Given the description of an element on the screen output the (x, y) to click on. 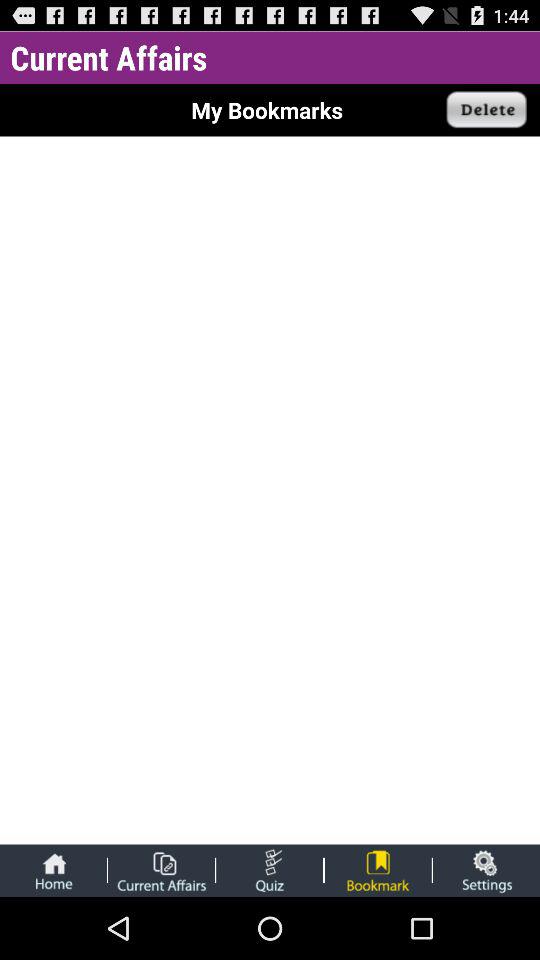
to aptitude questions (269, 870)
